Given the description of an element on the screen output the (x, y) to click on. 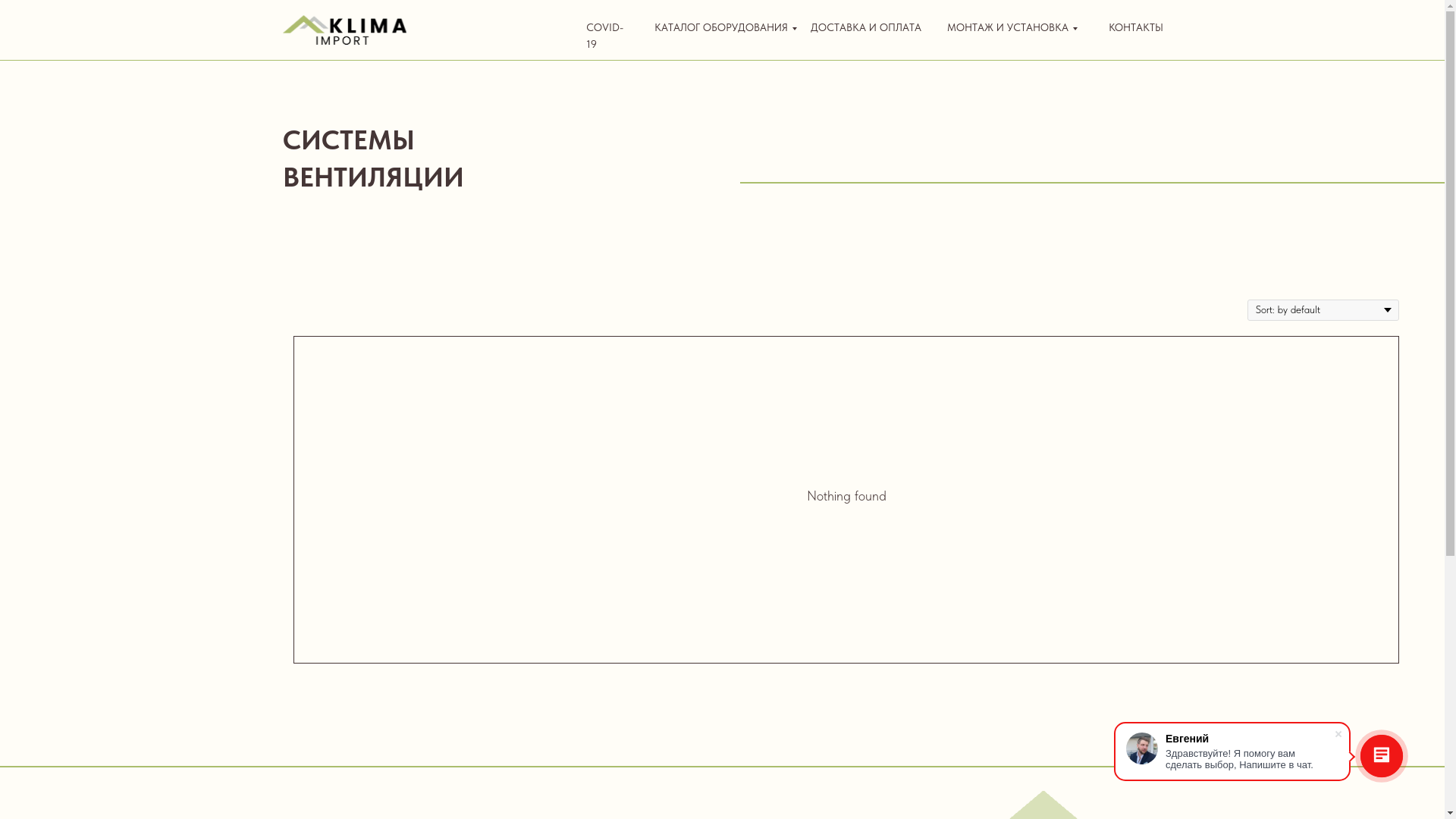
COVID-19 Element type: text (603, 35)
